Given the description of an element on the screen output the (x, y) to click on. 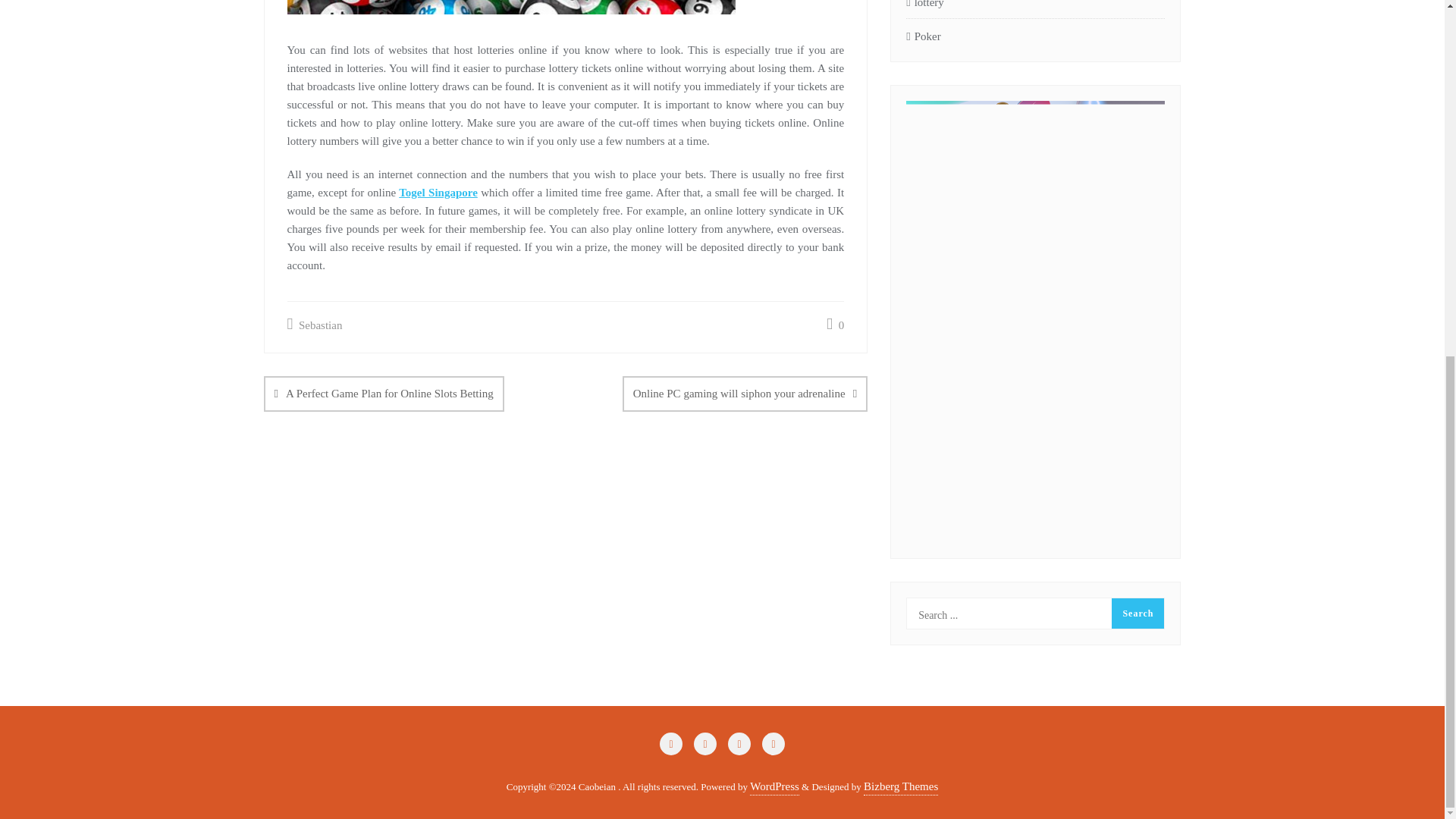
A Perfect Game Plan for Online Slots Betting (383, 393)
Sebastian (314, 324)
Search (1137, 613)
Poker (922, 35)
Search (1137, 613)
WordPress (774, 786)
Search (1137, 613)
Bizberg Themes (900, 786)
lottery (924, 6)
Online PC gaming will siphon your adrenaline (745, 393)
